Given the description of an element on the screen output the (x, y) to click on. 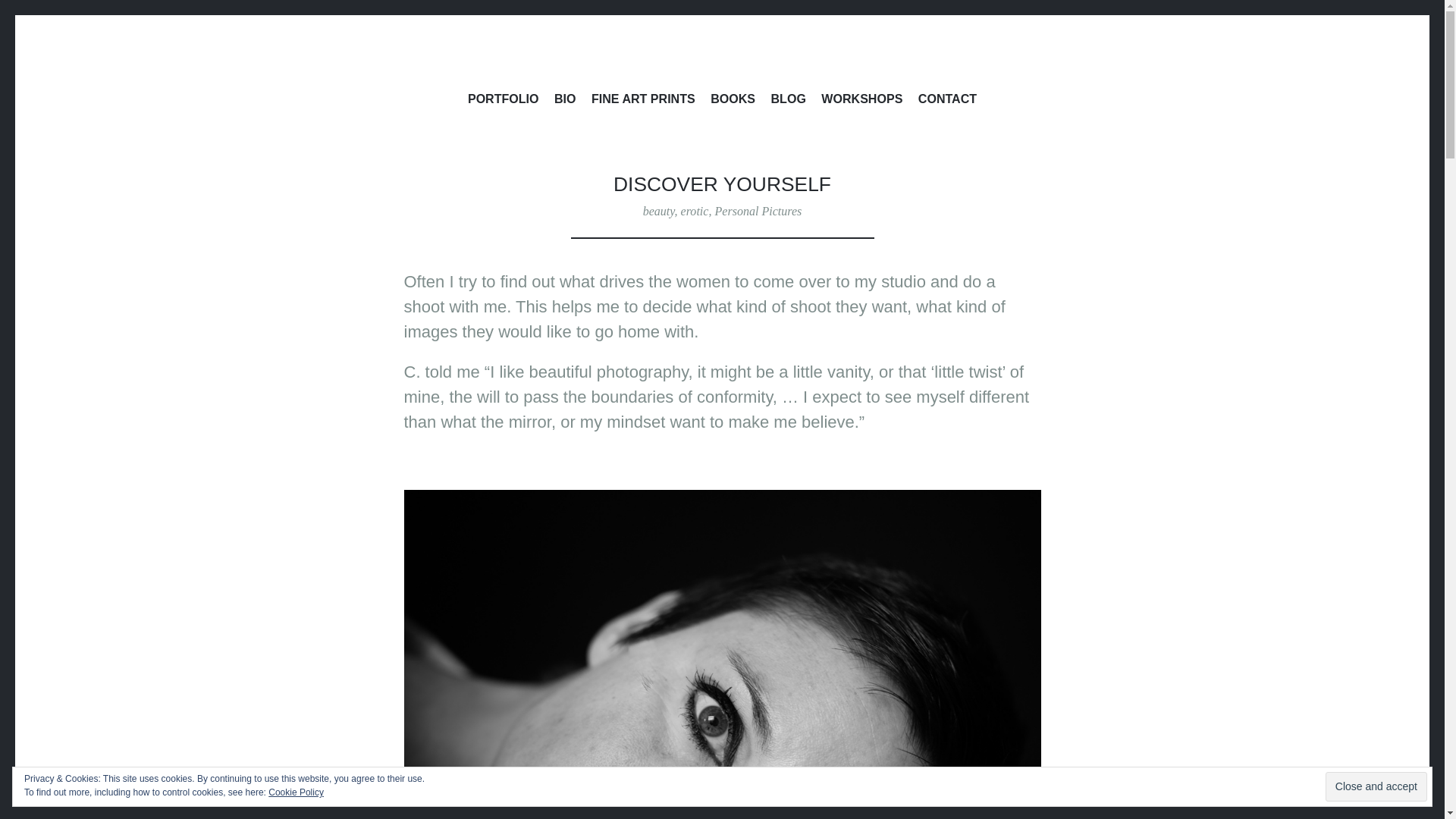
beauty (659, 210)
Close and accept (1375, 786)
BIO (565, 101)
PORTFOLIO (502, 101)
BOOKS (732, 101)
BLOG (788, 101)
FINE ART PRINTS (643, 101)
erotic (695, 210)
LUDWIG DESMET (558, 123)
